Given the description of an element on the screen output the (x, y) to click on. 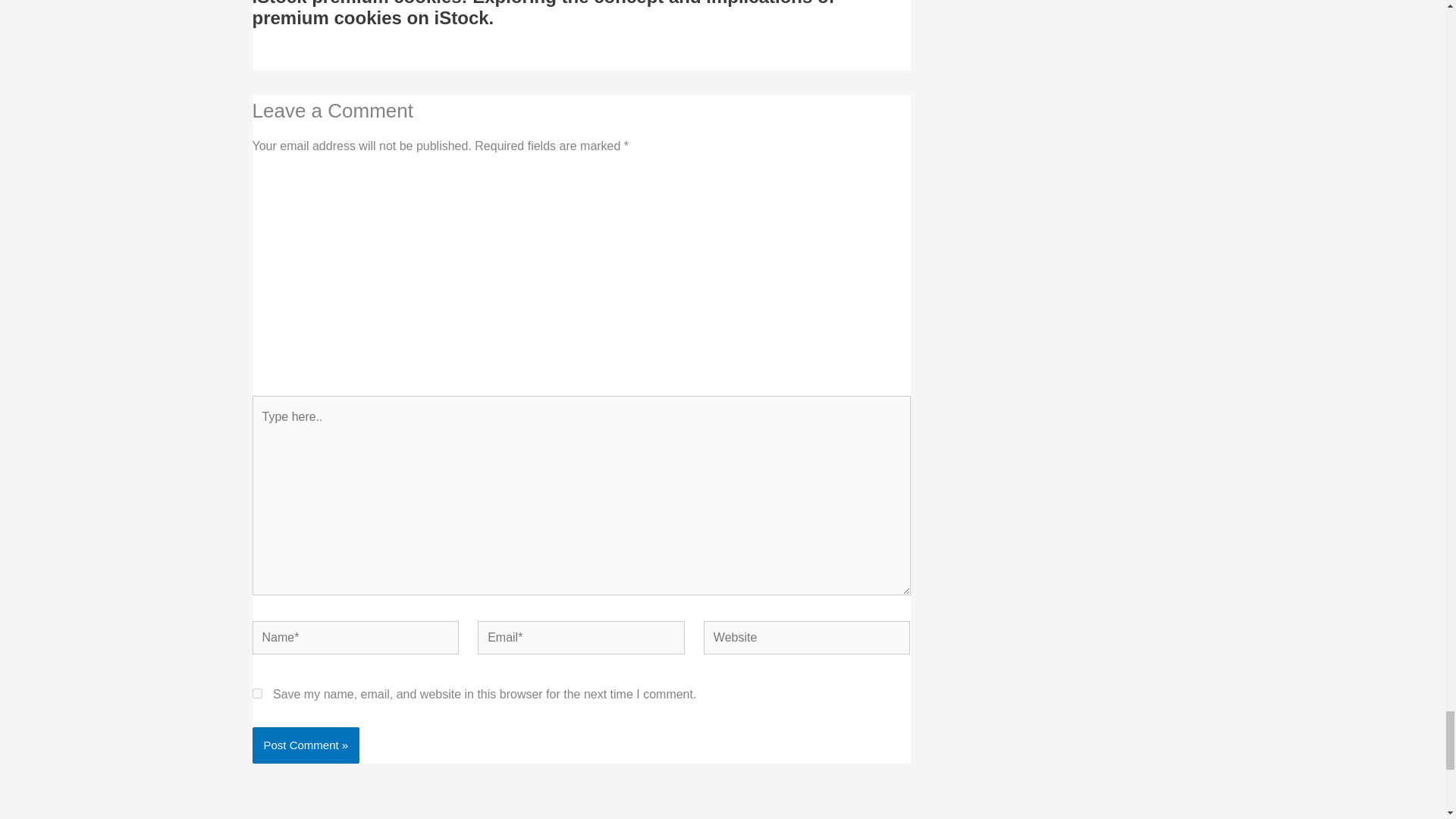
yes (256, 693)
